Given the description of an element on the screen output the (x, y) to click on. 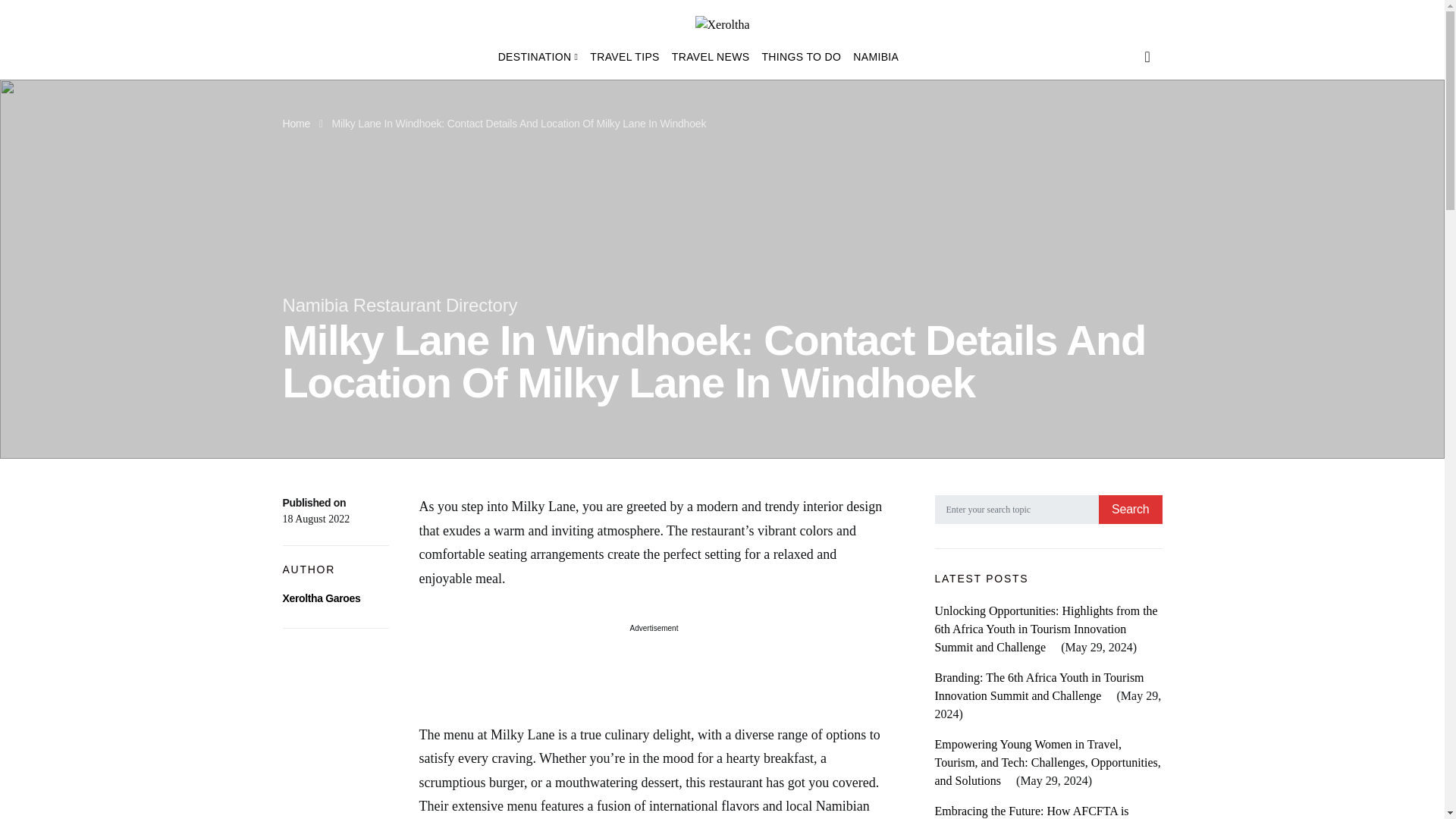
DESTINATION (541, 56)
TRAVEL TIPS (624, 56)
NAMIBIA (872, 56)
THINGS TO DO (801, 56)
Xeroltha Garoes (320, 598)
TRAVEL NEWS (710, 56)
Namibia Restaurant Directory (399, 304)
Home (296, 123)
